Given the description of an element on the screen output the (x, y) to click on. 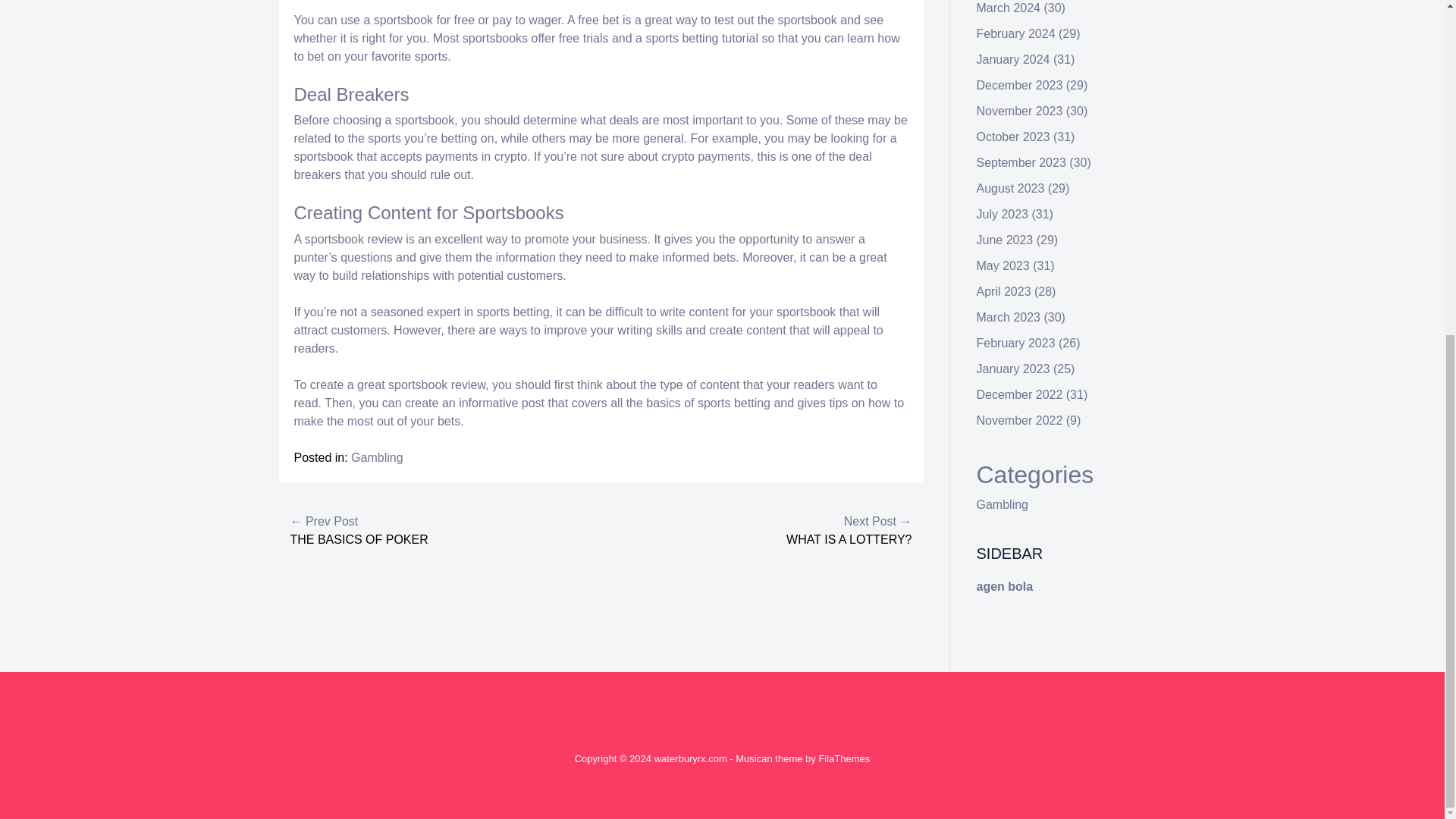
June 2023 (1004, 239)
agen bola (1004, 585)
September 2023 (1020, 162)
November 2023 (1019, 110)
Gambling (1001, 504)
December 2023 (1019, 84)
July 2023 (1002, 214)
March 2023 (1008, 317)
October 2023 (1012, 136)
February 2024 (1015, 33)
